Given the description of an element on the screen output the (x, y) to click on. 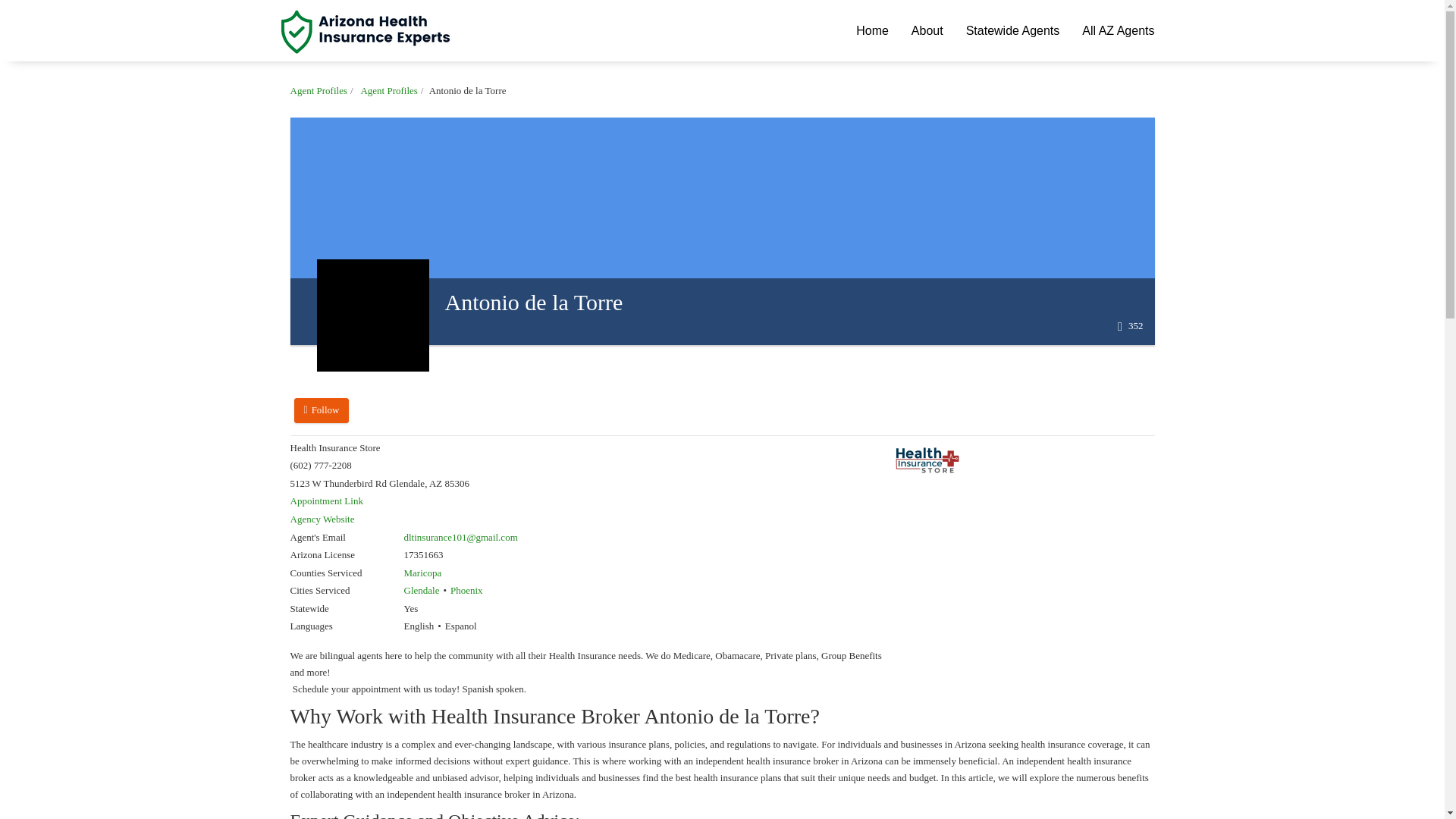
About (927, 30)
Home (872, 30)
All AZ Agents (1117, 30)
Follow (321, 410)
Maricopa (422, 572)
Agent Profiles (387, 90)
Agency Website (321, 518)
Views (1130, 325)
Agent Profiles (317, 90)
Appointment Link (325, 500)
